Given the description of an element on the screen output the (x, y) to click on. 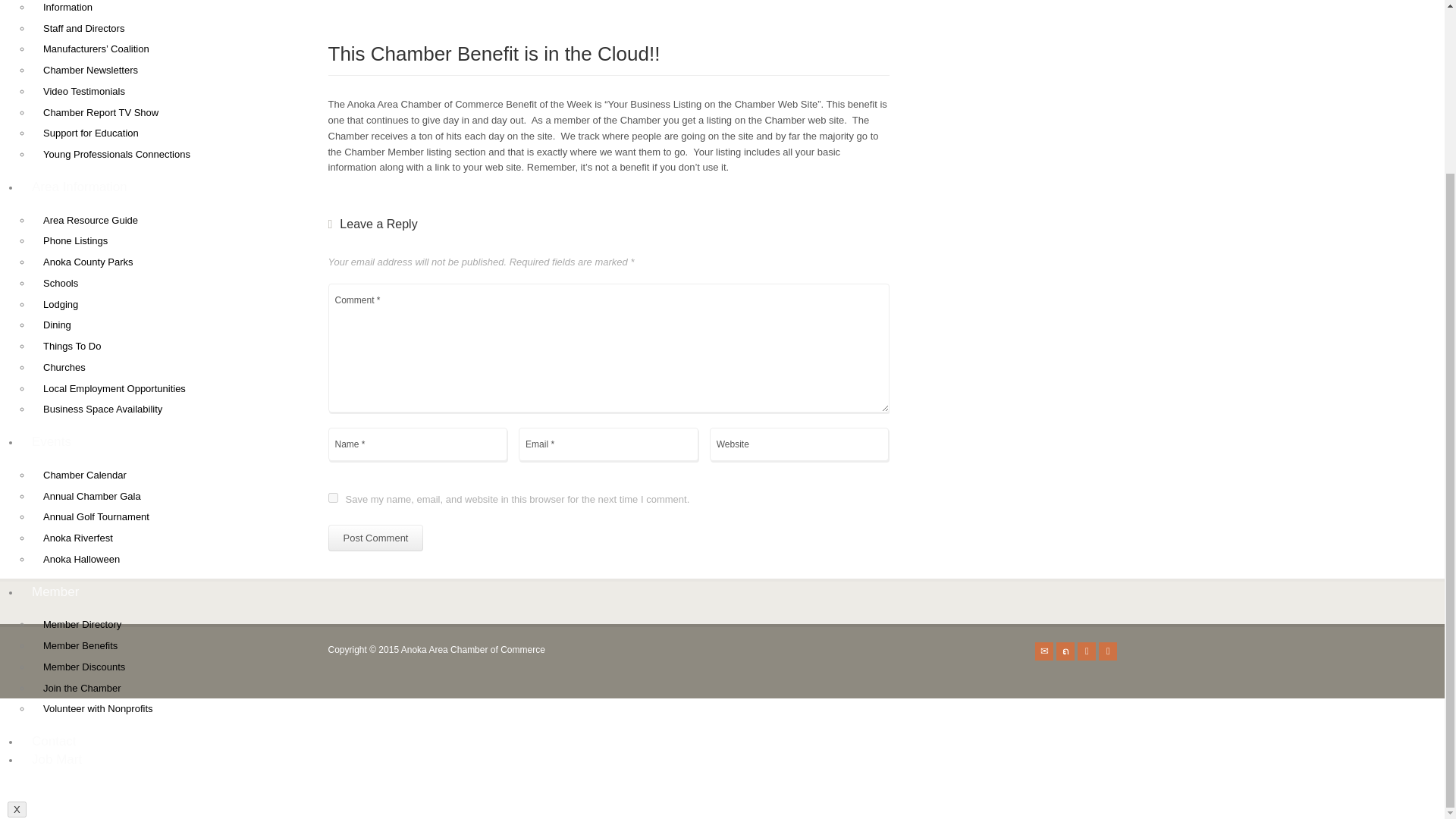
Area Resource Guide (90, 219)
Events (51, 441)
yes (332, 497)
Member Discounts (84, 666)
Chamber Report TV Show (101, 111)
Linkedin (1106, 651)
Volunteer with Nonprofits (98, 708)
Lodging (60, 304)
Information (67, 12)
Chamber Newsletters (90, 69)
